Given the description of an element on the screen output the (x, y) to click on. 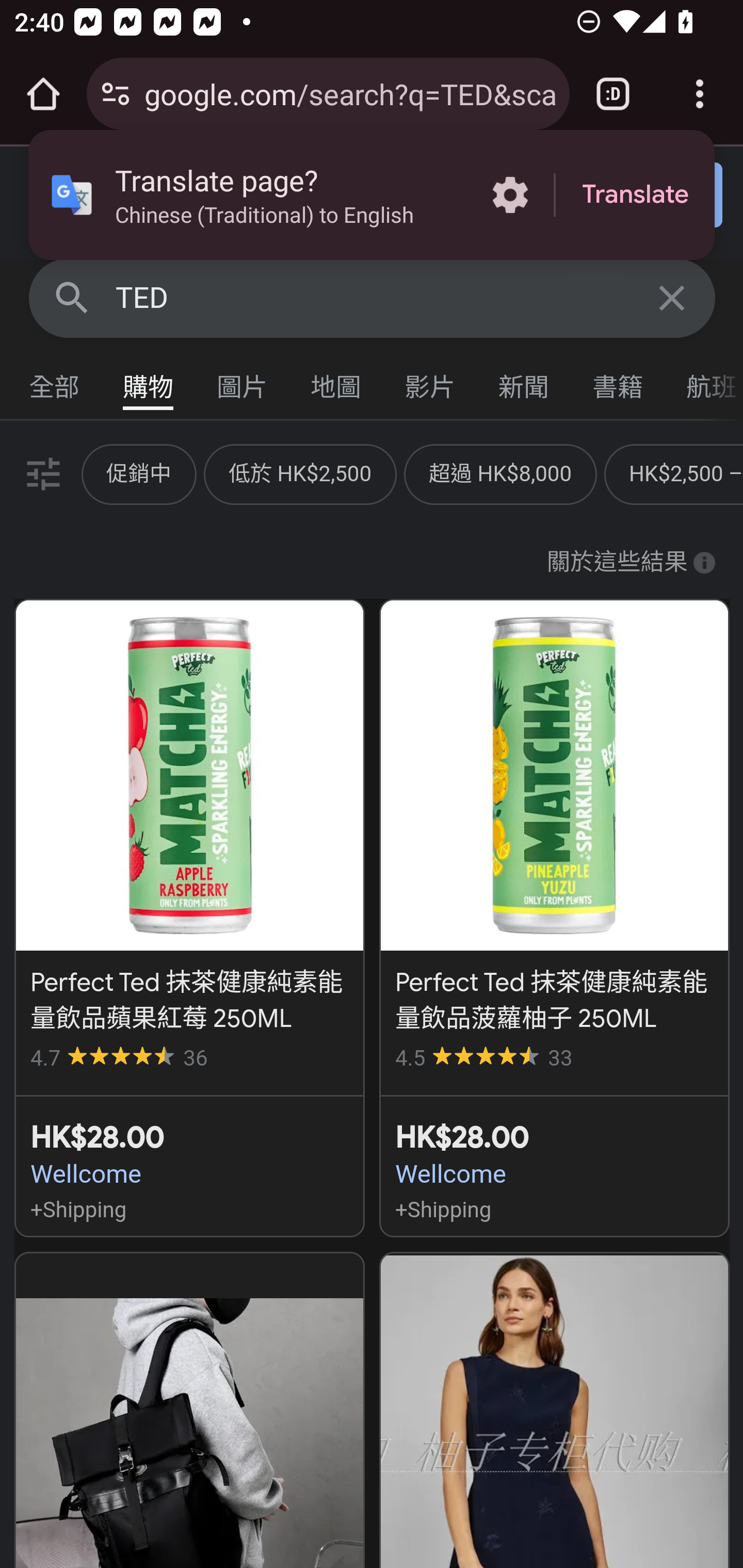
Open the home page (43, 93)
Connection is secure (115, 93)
Switch or close tabs (612, 93)
Customize and control Google Chrome (699, 93)
More options in the Translate page? (509, 195)
登入 (650, 195)
Google 搜尋 (71, 296)
清除搜尋內容 (672, 296)
TED (372, 297)
全部 (54, 382)
圖片 (242, 382)
地圖 (336, 382)
影片 (430, 382)
新聞 (524, 382)
書籍 (618, 382)
航班 (703, 382)
篩選器.未套用任何篩選條件。 (41, 473)
促銷中 (138, 473)
低於 HK$2,500 (300, 473)
超過 HK$8,000 (499, 473)
HK$2,500 – HK$8,000 (685, 473)
關於這些結果 More info 關於這些結果  More info (630, 562)
Ted Backpack | Ted 休閒旅行背包 (189, 1410)
TED BAKAR女士短款A字裙修身顯瘦無袖收腰氣質梅花通勤洋裝 (553, 1410)
